Given the description of an element on the screen output the (x, y) to click on. 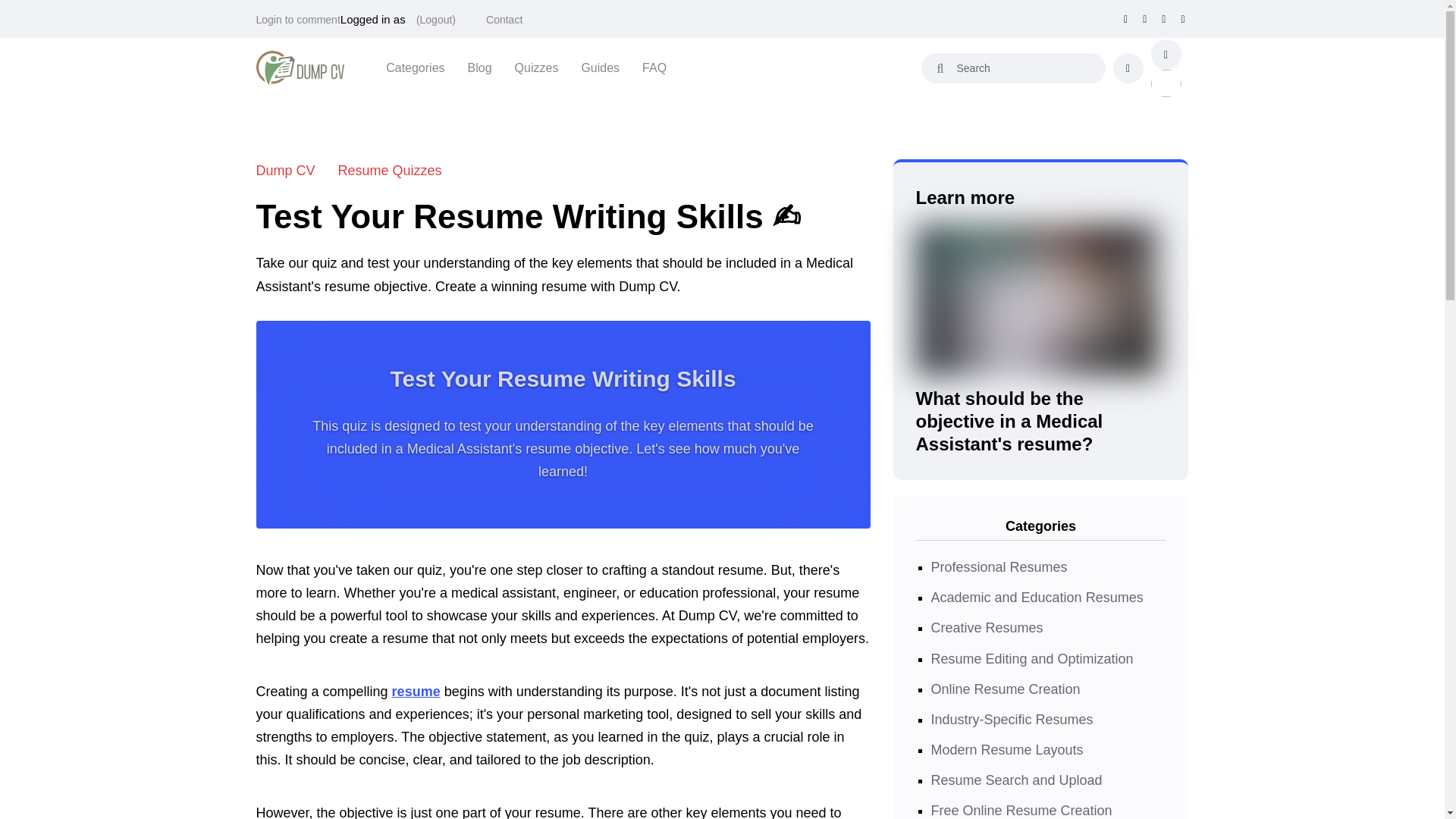
Contact (504, 19)
Categories (414, 67)
Login to comment (298, 19)
